Given the description of an element on the screen output the (x, y) to click on. 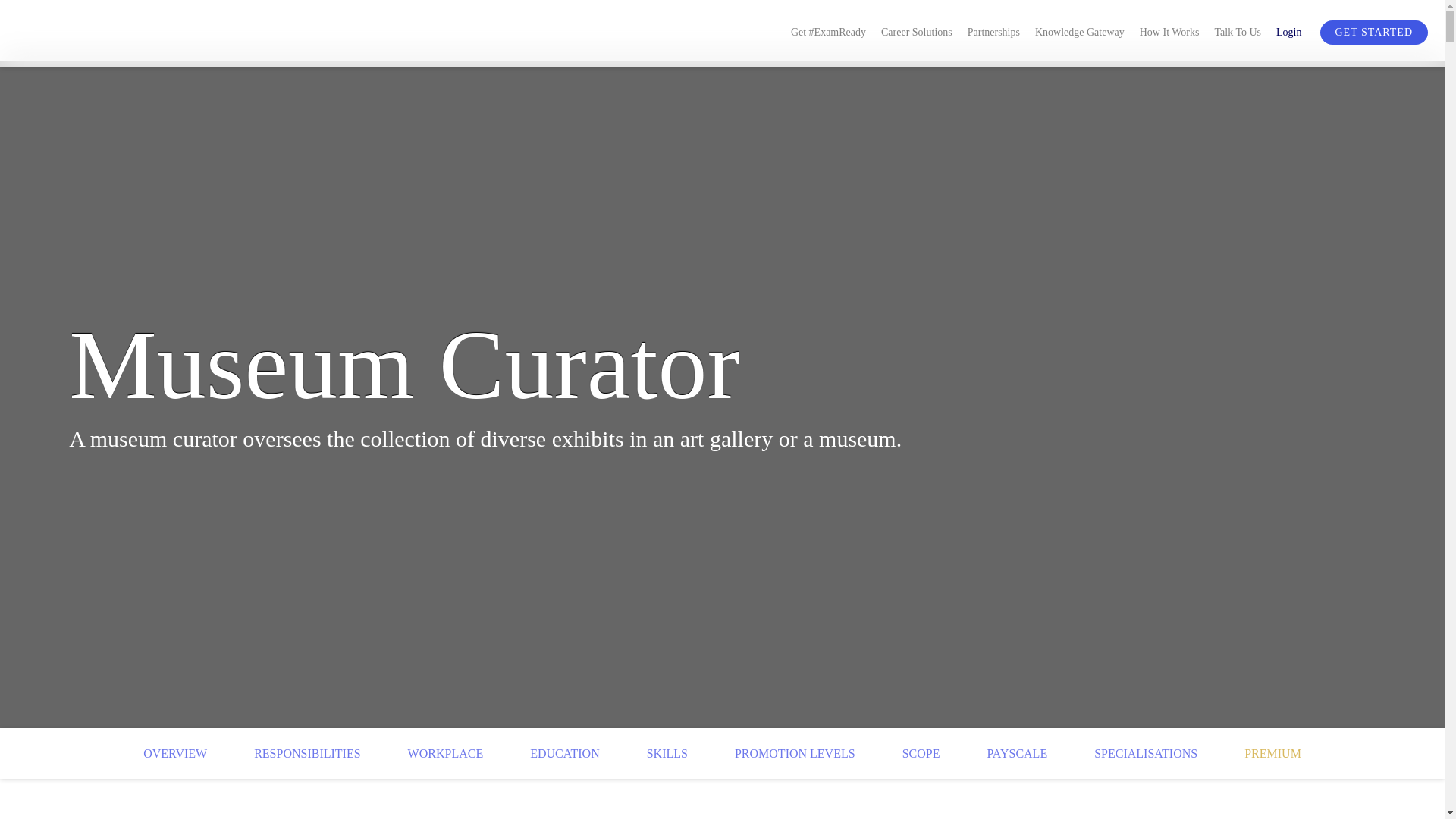
Mentoria (123, 34)
RESPONSIBILITIES (306, 753)
Career Solutions (916, 30)
PROMOTION LEVELS (795, 753)
SPECIALISATIONS (1145, 753)
EDUCATION (564, 753)
OVERVIEW (174, 753)
WORKPLACE (445, 753)
SKILLS (666, 753)
PREMIUM (1272, 753)
PAYSCALE (1016, 753)
SCOPE (921, 753)
